Given the description of an element on the screen output the (x, y) to click on. 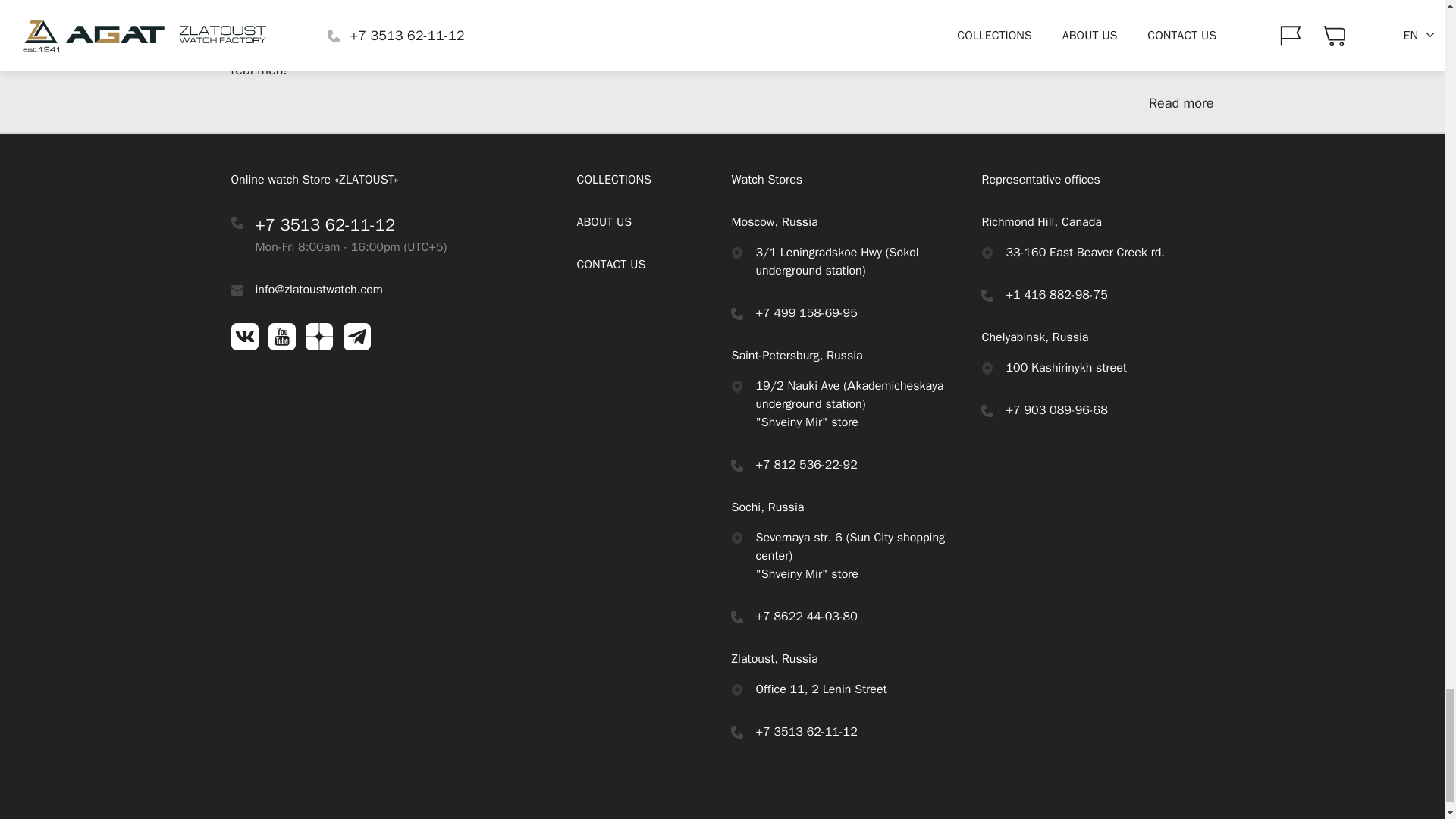
active (736, 253)
